Given the description of an element on the screen output the (x, y) to click on. 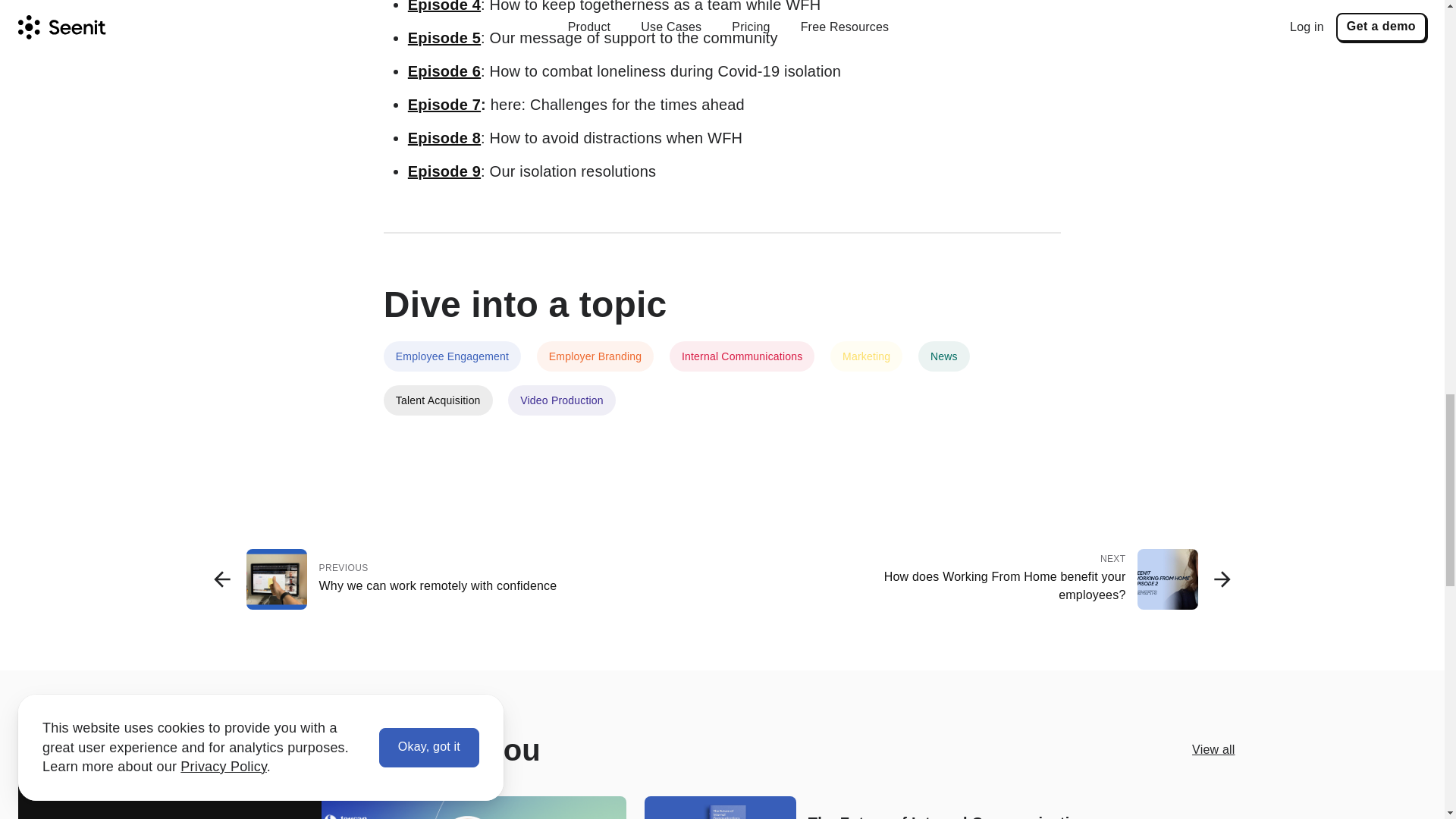
Video Production (567, 405)
View all (1213, 748)
Episode 7 (417, 578)
Episode 5 (443, 104)
Episode 6 (443, 37)
Episode 9 (443, 71)
The Future of Internal Communications (443, 170)
Marketing (952, 815)
Internal Communications (871, 361)
Employer Branding (1026, 578)
Employee Engagement (748, 361)
Talent Acquisition (601, 361)
News (458, 361)
